Given the description of an element on the screen output the (x, y) to click on. 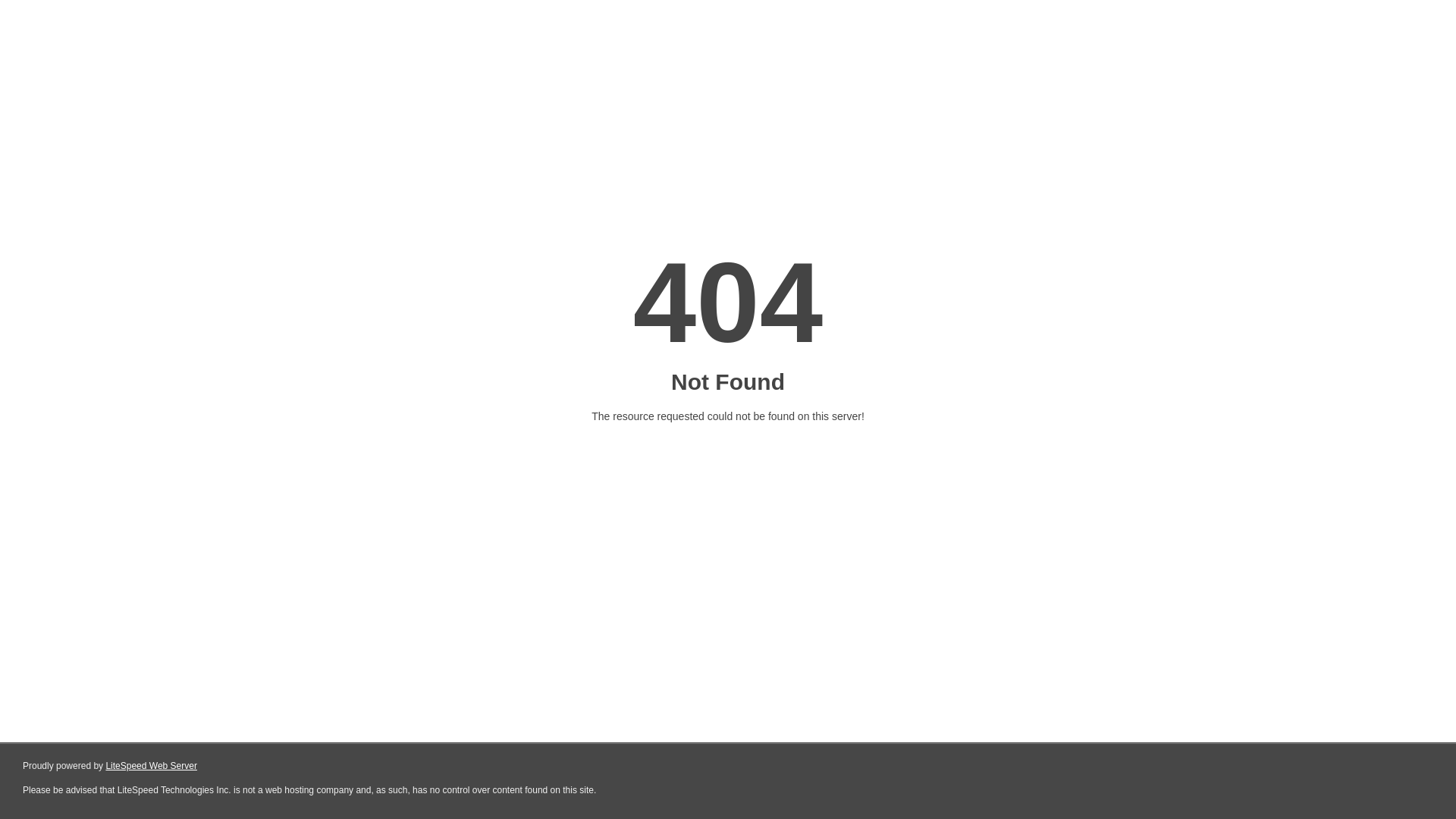
LiteSpeed Web Server (150, 765)
